Given the description of an element on the screen output the (x, y) to click on. 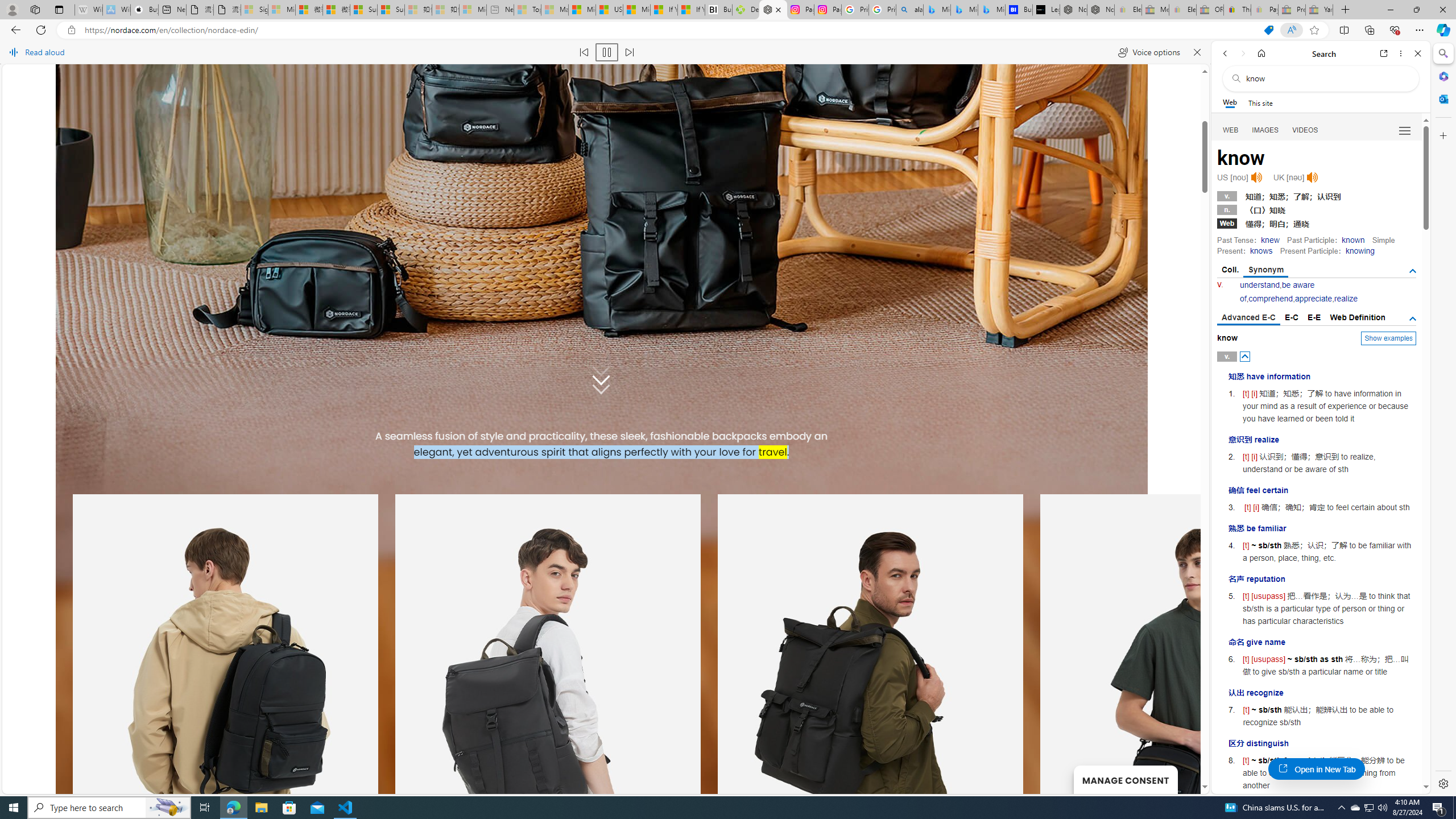
realize (1345, 298)
Close read aloud (1196, 52)
be aware of (1277, 291)
Pause read aloud (Ctrl+Shift+U) (606, 52)
Nordace - Nordace Edin Collection (773, 9)
Voice options (1149, 52)
